Given the description of an element on the screen output the (x, y) to click on. 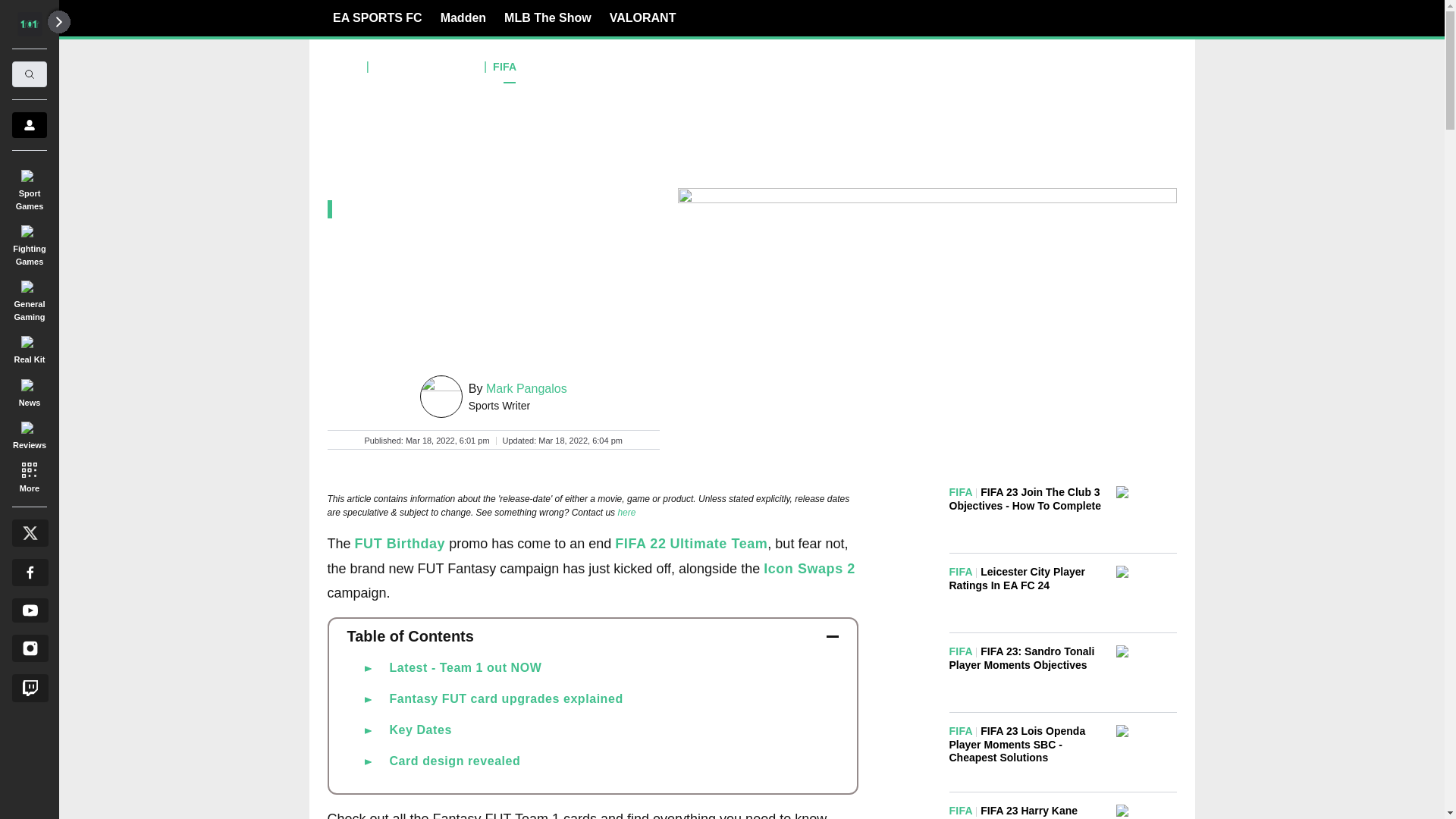
MLB The Show (547, 18)
Reviews (28, 433)
VALORANT (643, 18)
EA SPORTS FC (377, 18)
Madden (463, 18)
Real Kit (28, 347)
More (28, 476)
News (28, 389)
